Given the description of an element on the screen output the (x, y) to click on. 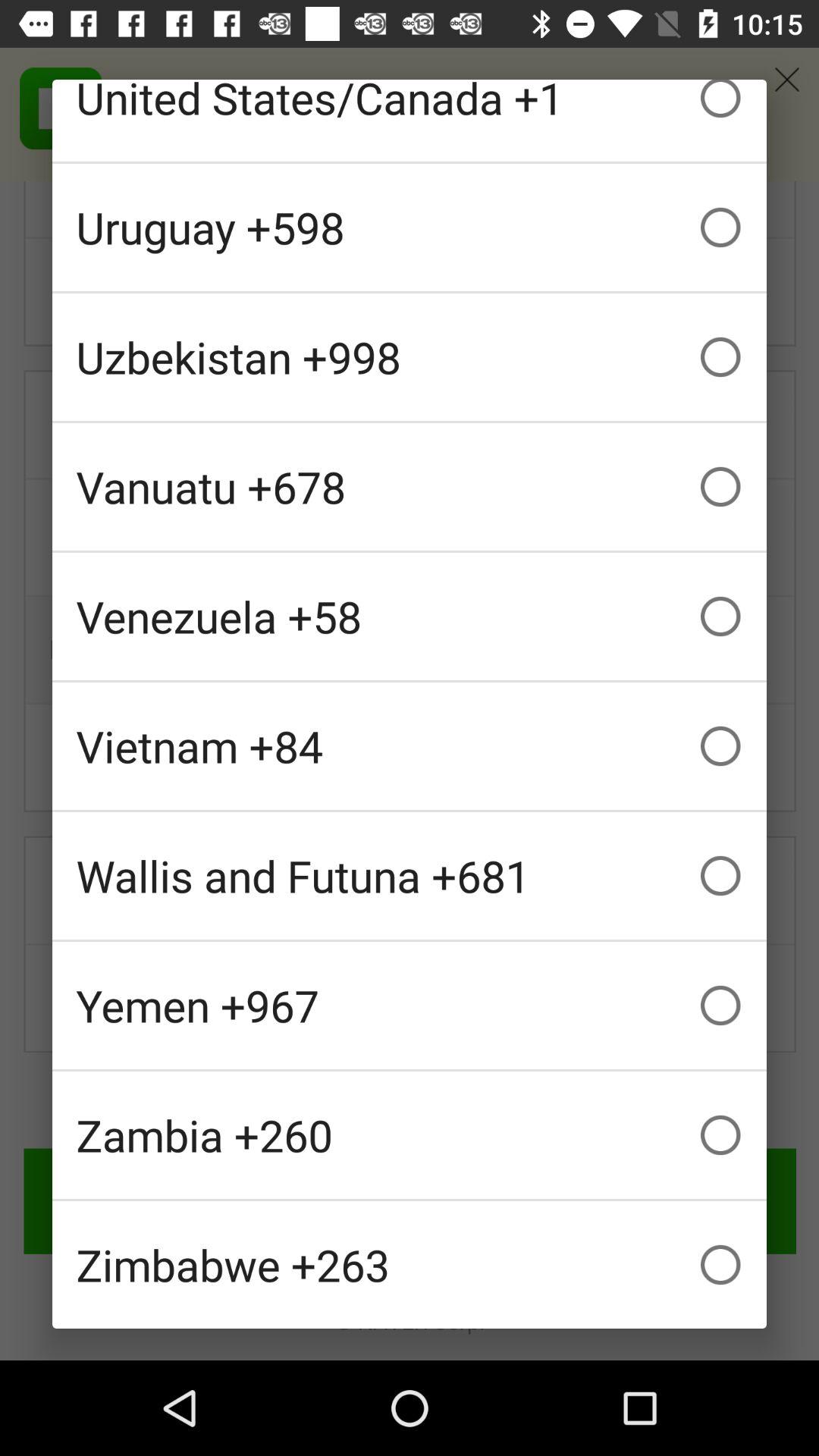
launch icon below the uruguay +598 icon (409, 356)
